Given the description of an element on the screen output the (x, y) to click on. 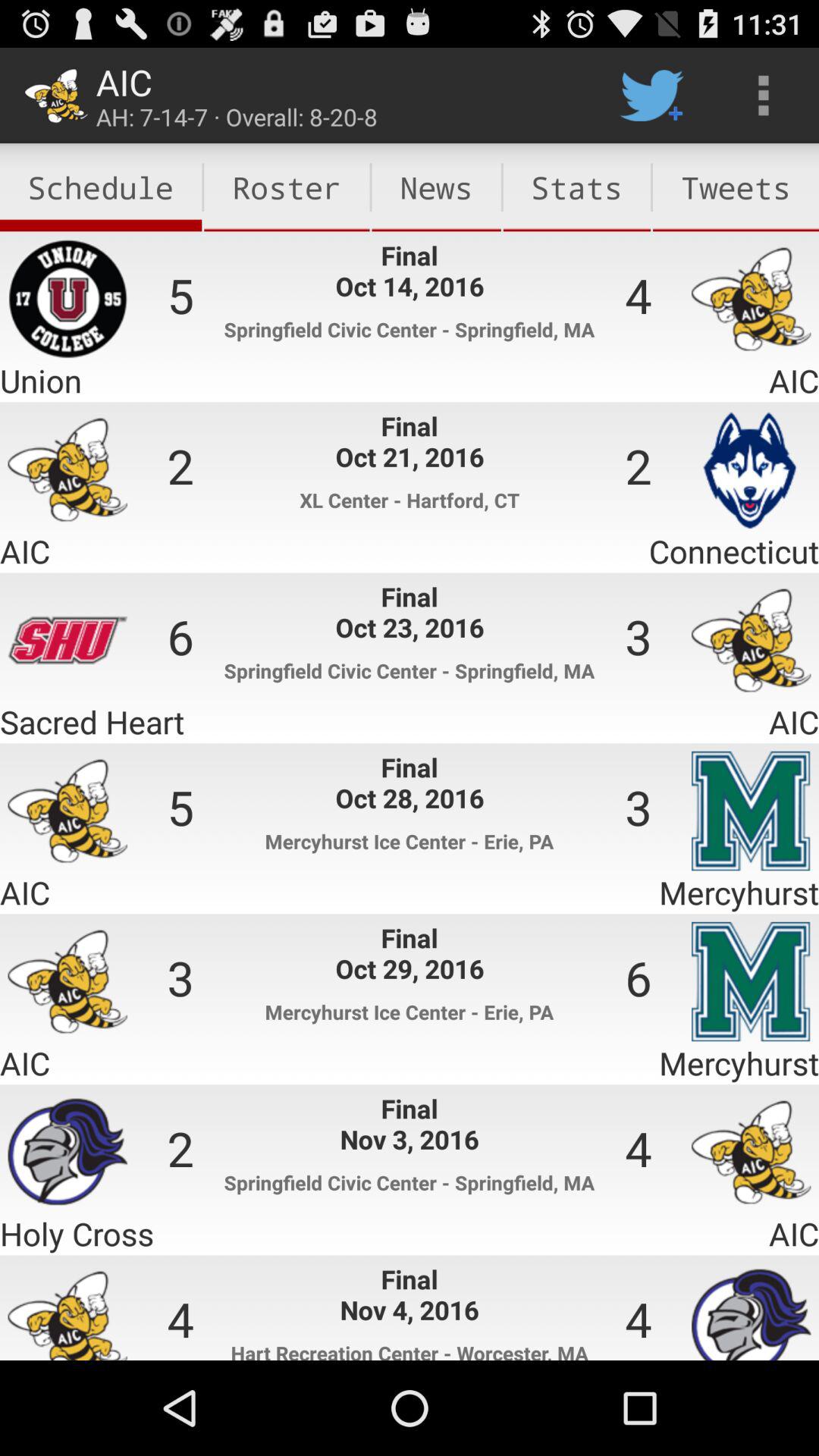
turn on the item above the final oct 14 app (436, 187)
